Given the description of an element on the screen output the (x, y) to click on. 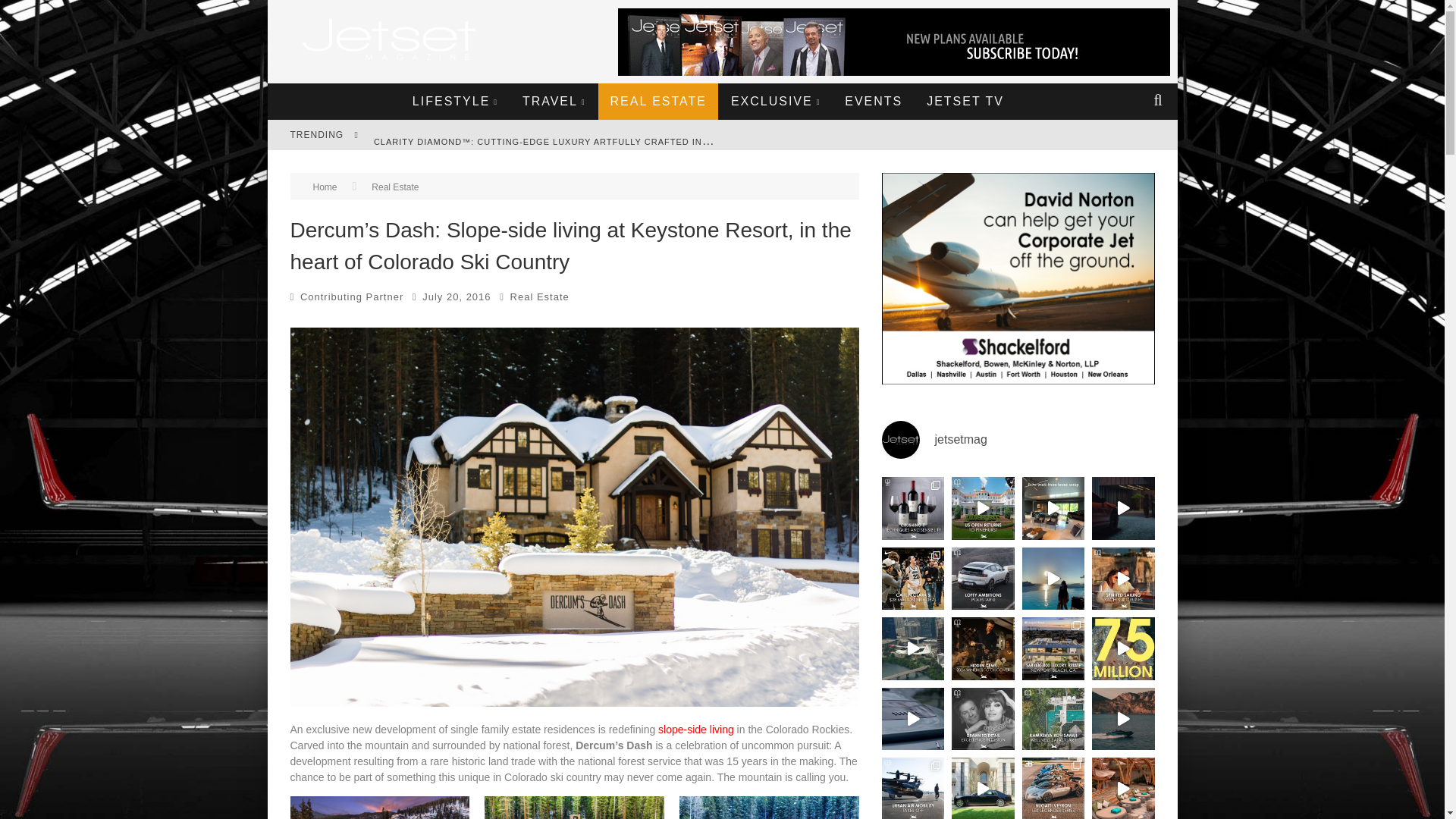
View all posts in Real Estate (395, 186)
View all posts in Real Estate (540, 296)
LIFESTYLE (455, 101)
